Given the description of an element on the screen output the (x, y) to click on. 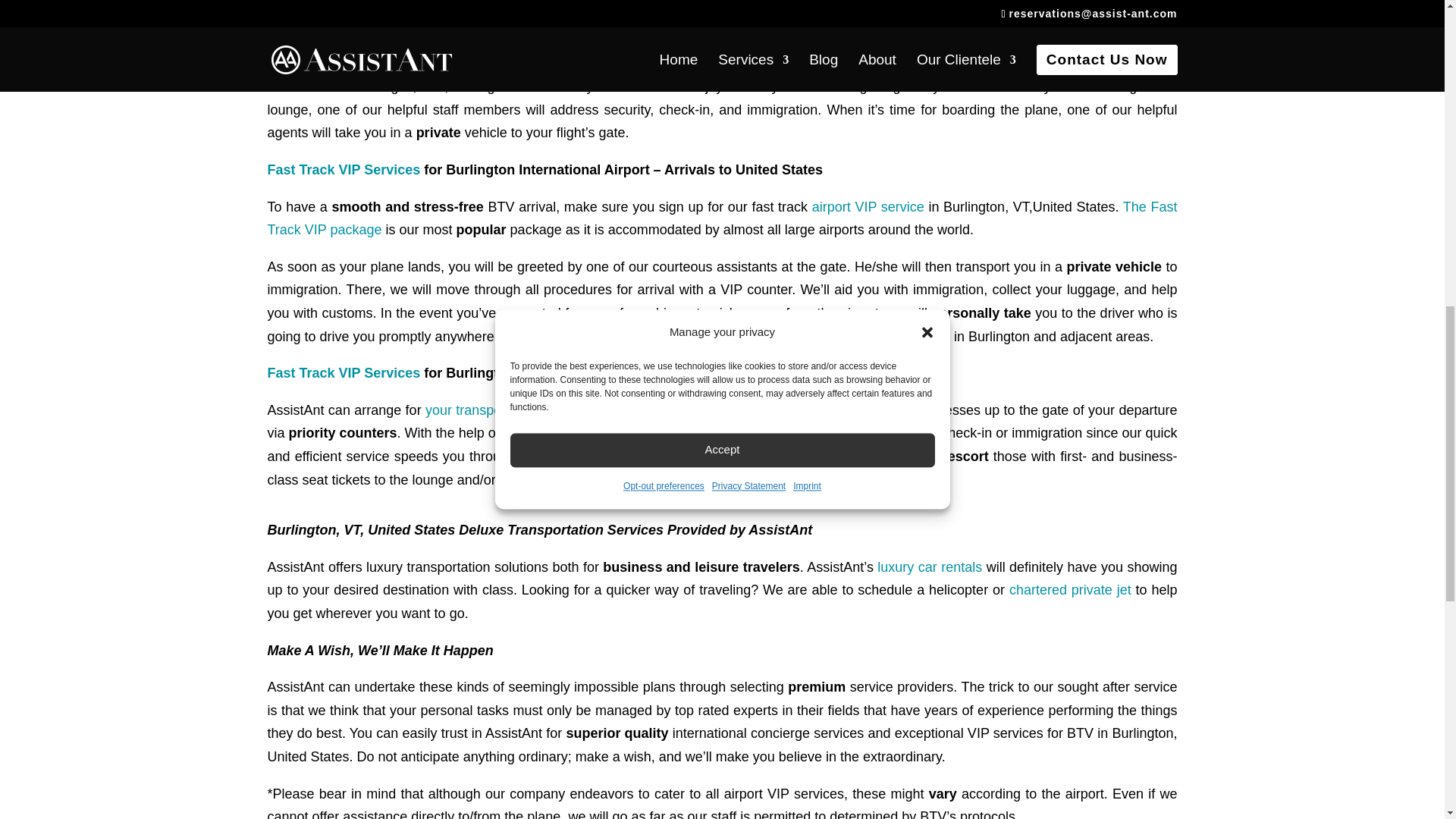
Luxury Car Rental Service (929, 566)
Luxury Transportation Services (583, 409)
Fast Track Airport VIP Service (721, 218)
Private Jet Charter (1070, 589)
